Given the description of an element on the screen output the (x, y) to click on. 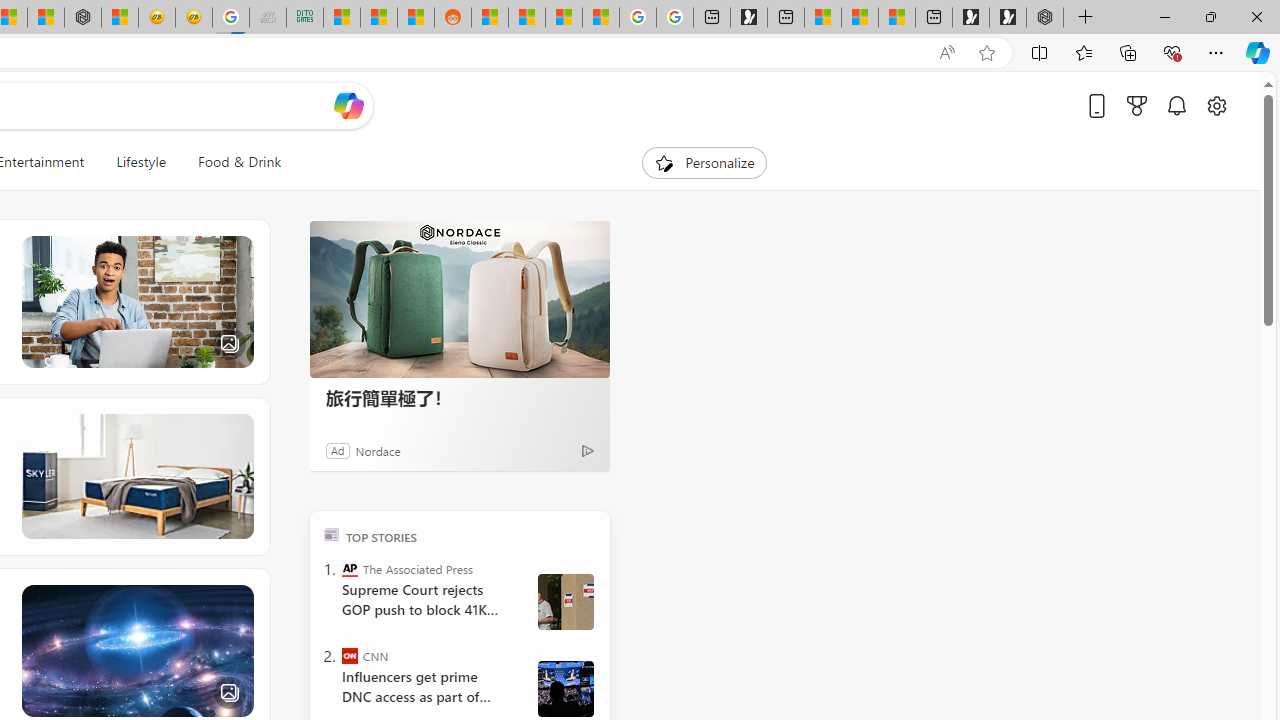
R******* | Trusted Community Engagement and Contributions (490, 17)
TOP (331, 534)
These 3 Stocks Pay You More Than 5% to Own Them (897, 17)
